Given the description of an element on the screen output the (x, y) to click on. 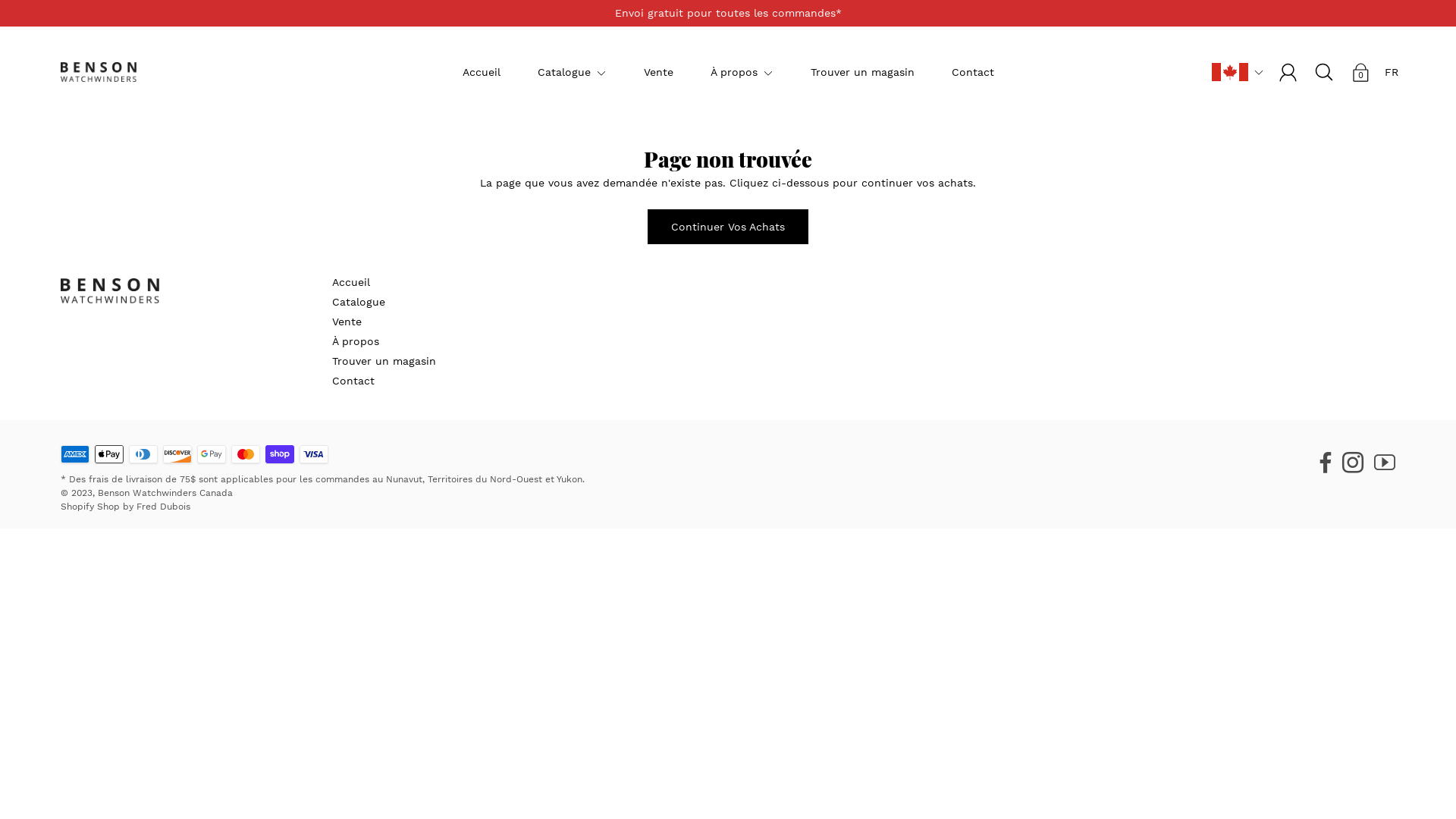
Contact Element type: text (353, 380)
Shopify Shop by Fred Dubois Element type: text (125, 506)
Vente Element type: text (346, 321)
Trouver un magasin Element type: text (861, 71)
Continuer Vos Achats Element type: text (727, 226)
Trouver un magasin Element type: text (384, 360)
Catalogue Element type: text (358, 301)
0 Element type: text (1360, 71)
Accueil Element type: text (351, 282)
Contact Element type: text (971, 71)
Instagram Element type: text (1352, 459)
Accueil Element type: text (481, 71)
Vente Element type: text (657, 71)
Envoi gratuit pour toutes les commandes* Element type: text (727, 13)
Canadian website Element type: hover (1229, 71)
Catalogue Element type: text (562, 71)
Benson Watchwinders Canada Element type: text (164, 492)
YouTube Element type: text (1384, 459)
Facebook Element type: text (1325, 459)
